Given the description of an element on the screen output the (x, y) to click on. 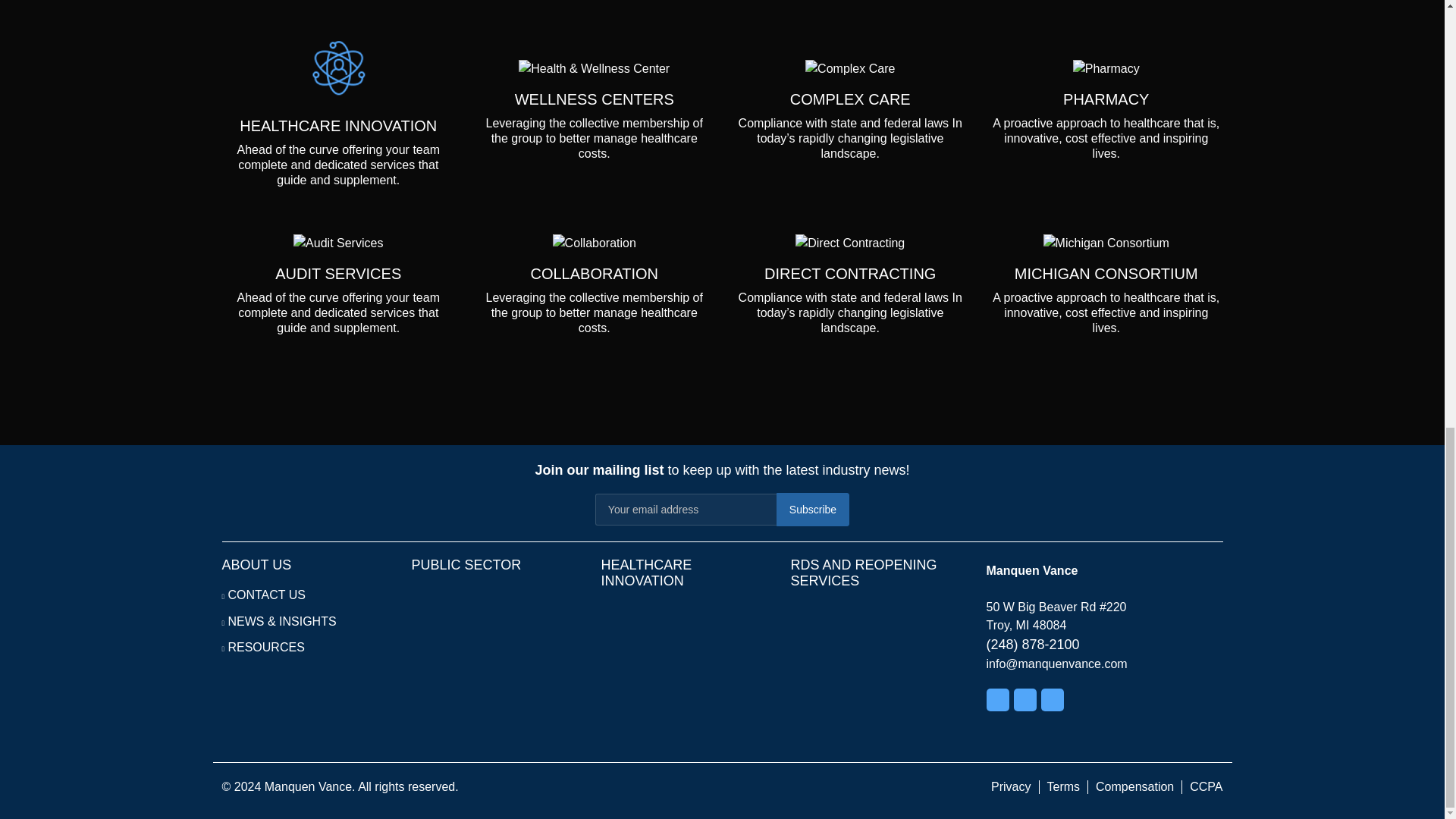
ABOUT US (256, 564)
Compensation (1134, 786)
RESOURCES (265, 646)
CONTACT US (266, 594)
Subscribe (812, 509)
CCPA (1206, 786)
Subscribe (812, 509)
HEALTHCARE INNOVATION (645, 572)
RDS AND REOPENING SERVICES (863, 572)
Privacy (1010, 786)
